Given the description of an element on the screen output the (x, y) to click on. 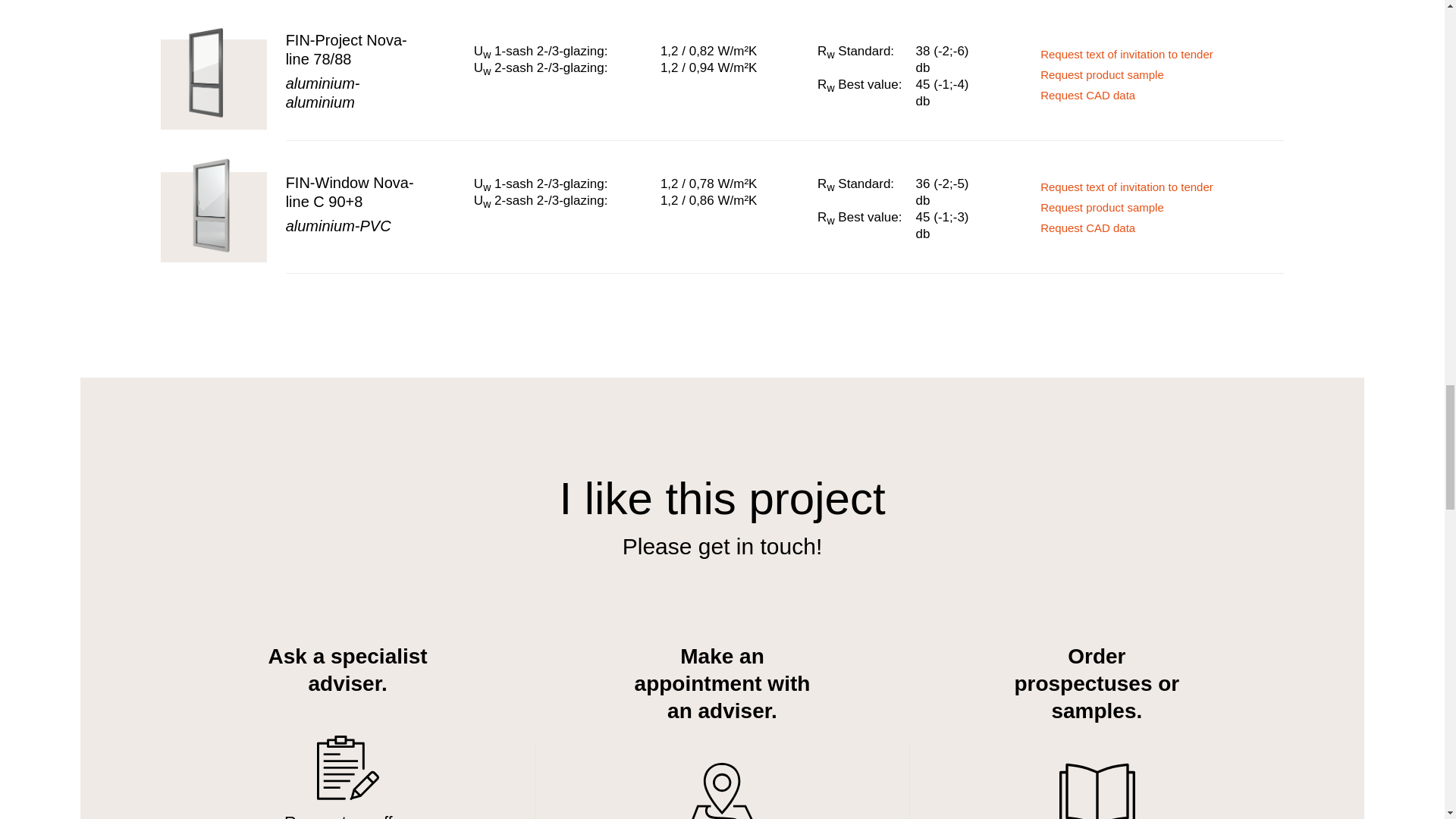
Request CAD data (1148, 227)
Request text of invitation to tender (1148, 53)
Request product sample (1148, 74)
Request text of invitation to tender (1148, 186)
Request product sample (1148, 207)
Request CAD data (1148, 94)
